Given the description of an element on the screen output the (x, y) to click on. 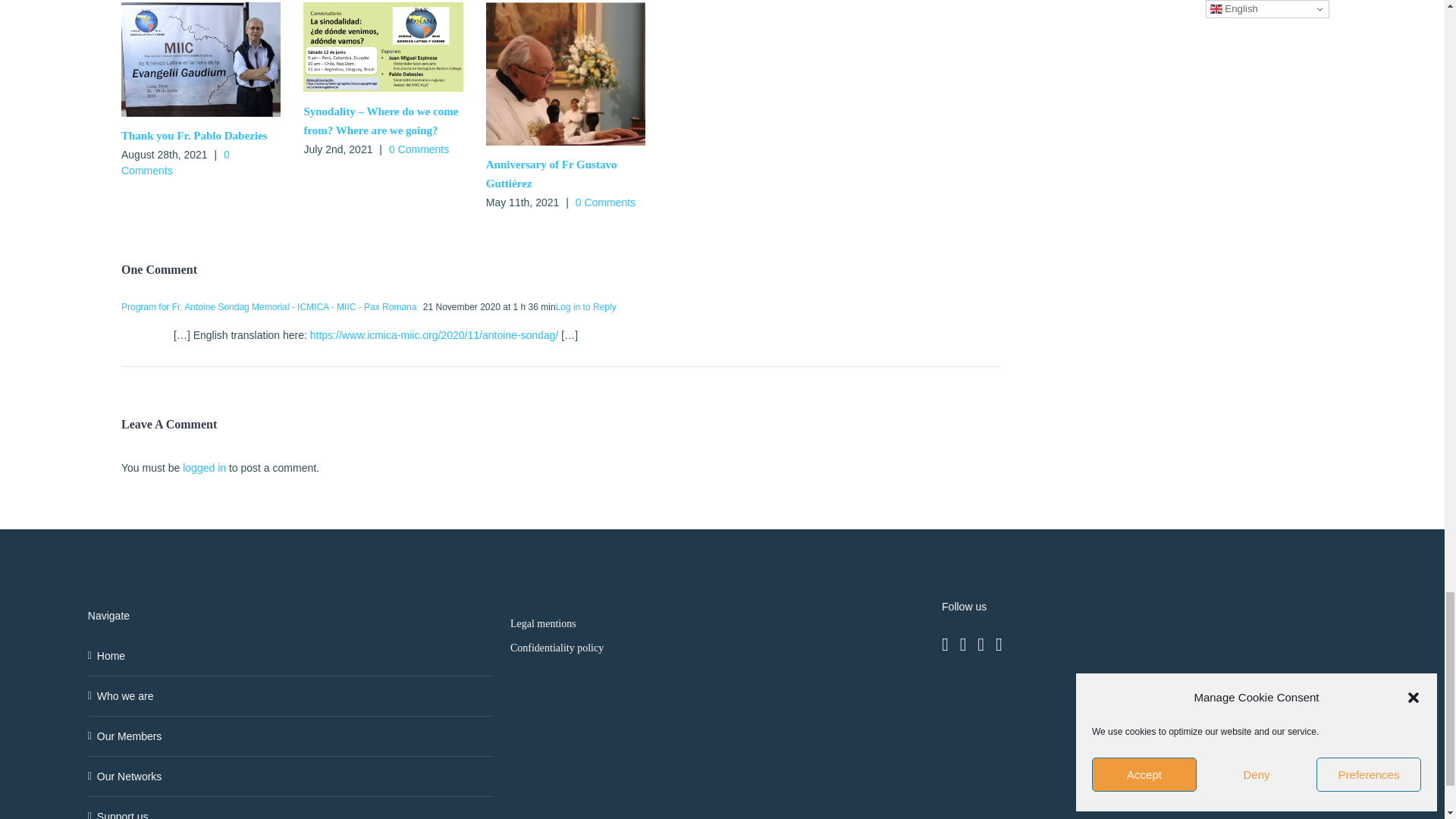
Thank you Fr. Pablo Dabezies (193, 135)
